Given the description of an element on the screen output the (x, y) to click on. 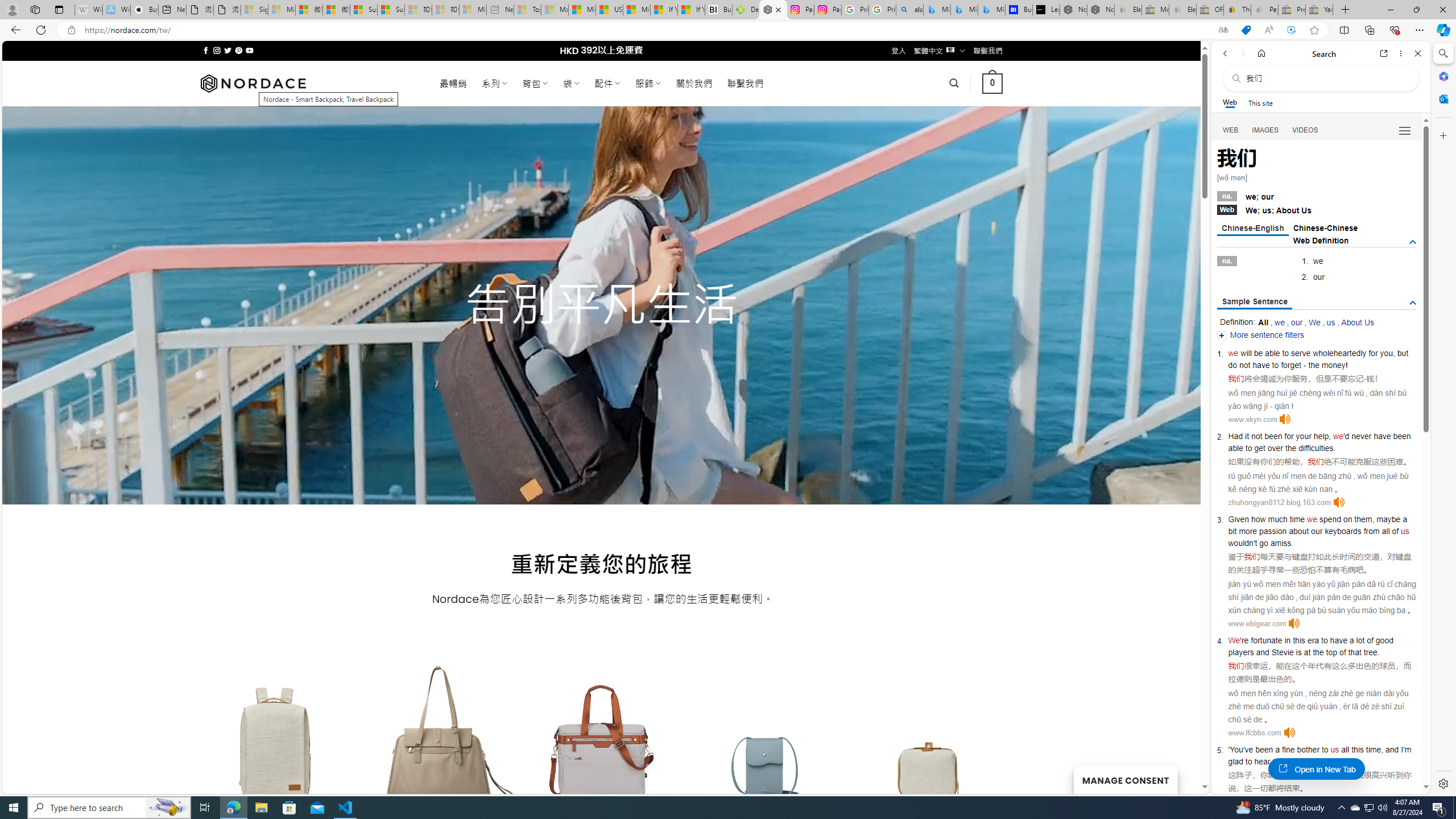
help (1321, 435)
Follow on Facebook (205, 50)
glad (1235, 760)
Payments Terms of Use | eBay.com - Sleeping (1264, 9)
